Given the description of an element on the screen output the (x, y) to click on. 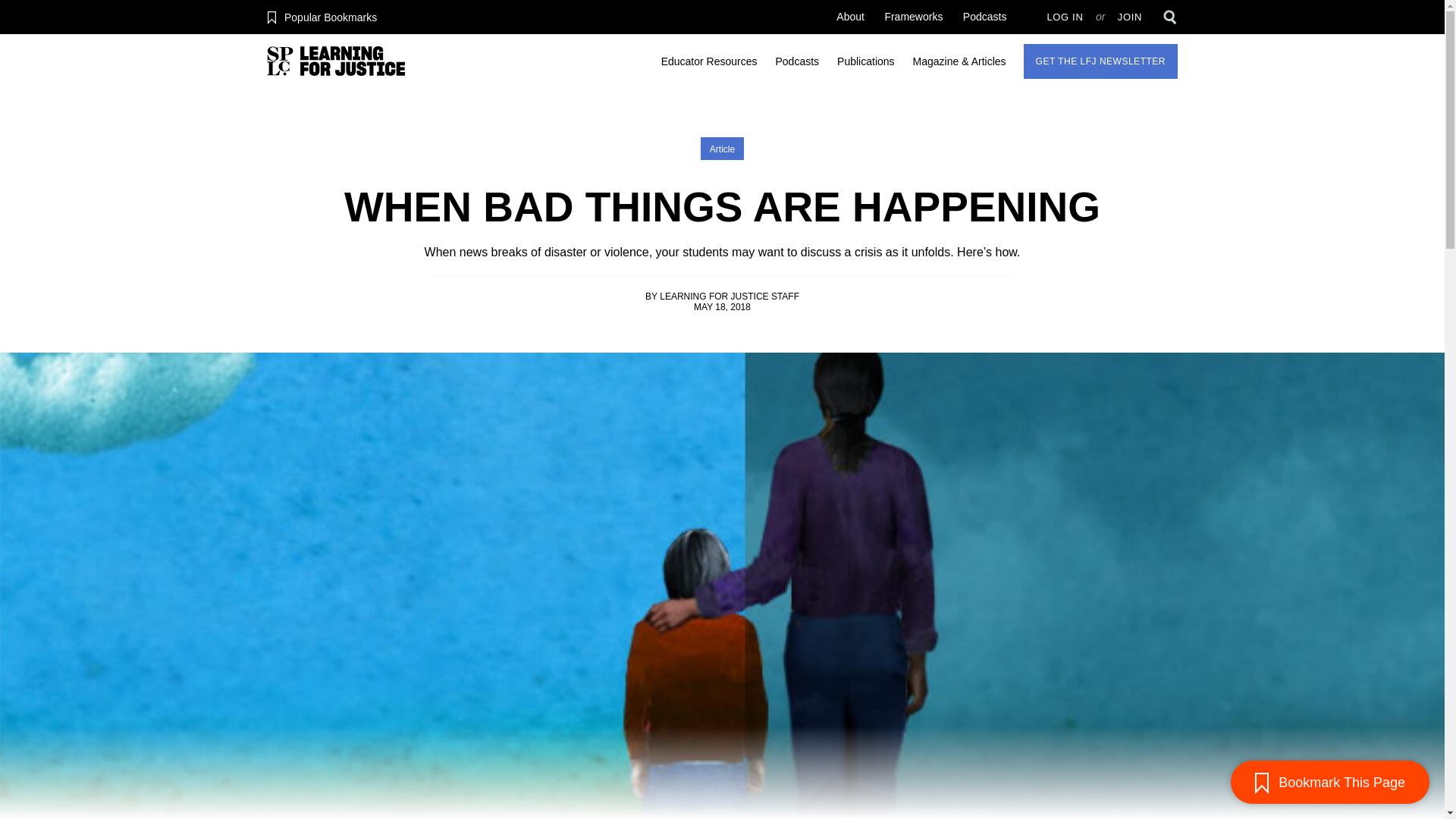
Resources for Teachers (708, 61)
SKIP TO MAIN CONTENT (5, 94)
Learning for Justice Podcasts (984, 16)
